Given the description of an element on the screen output the (x, y) to click on. 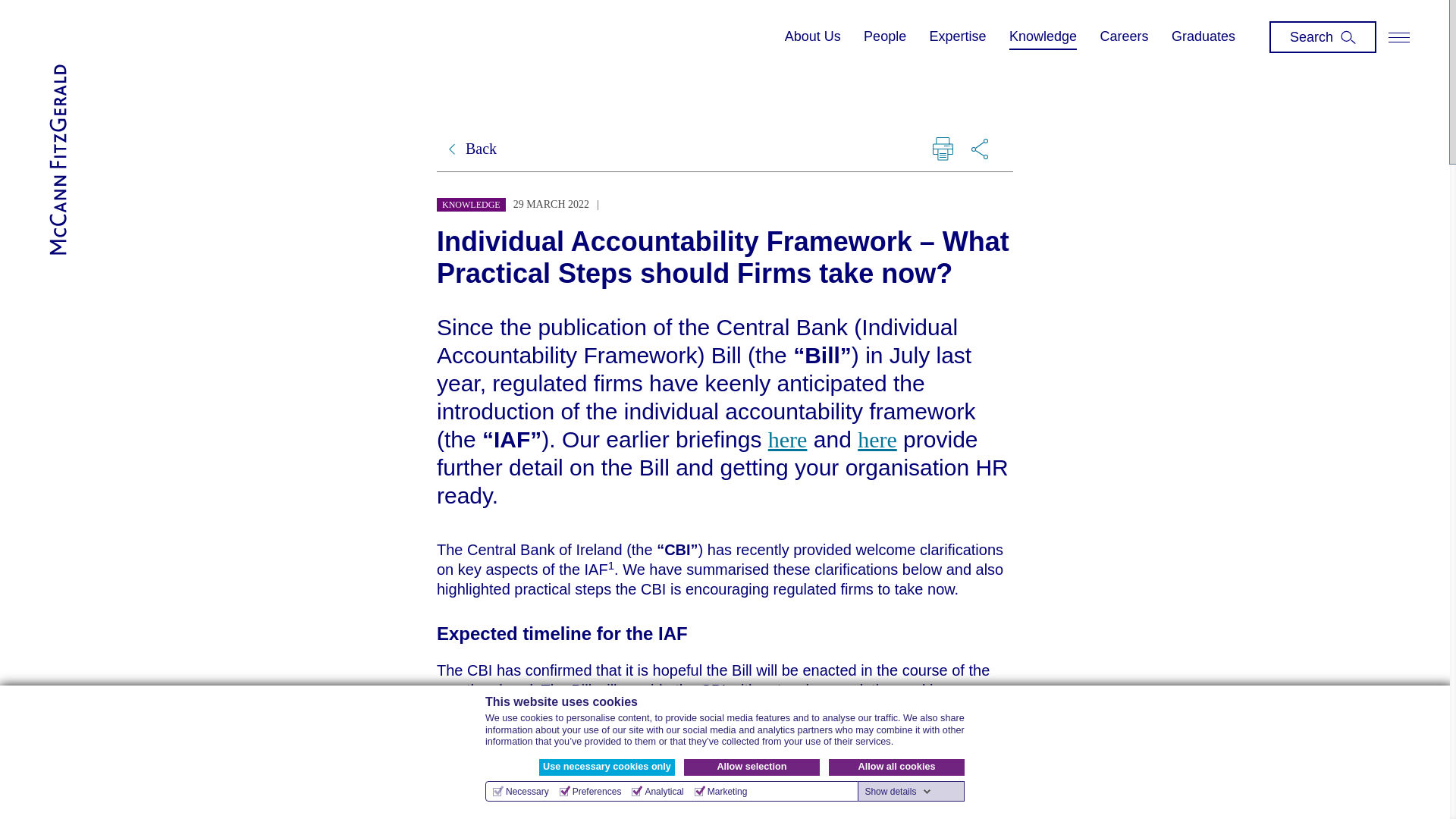
Use necessary cookies only (606, 767)
Show details (897, 791)
Allow selection (751, 767)
Allow all cookies (895, 767)
